Given the description of an element on the screen output the (x, y) to click on. 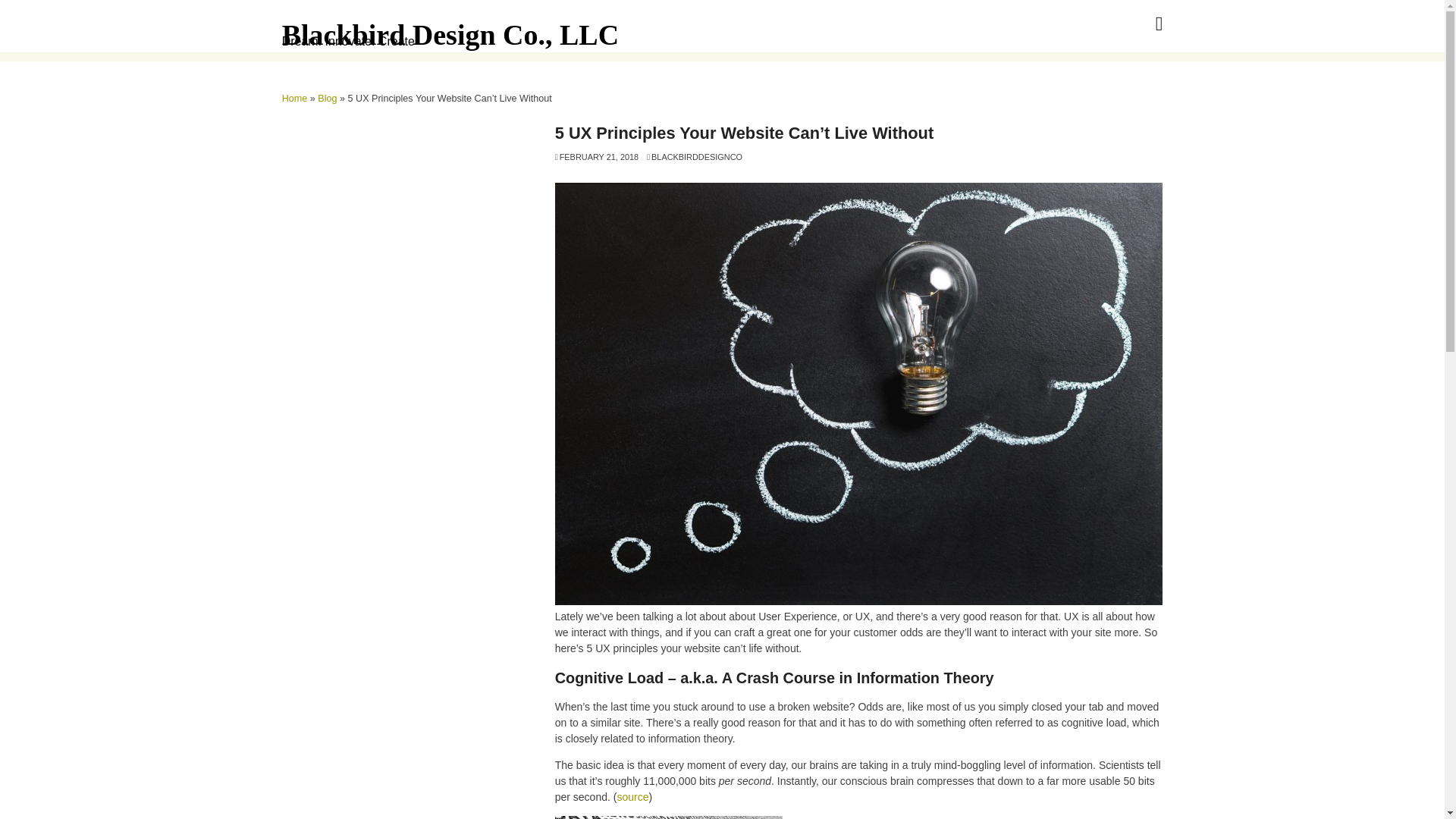
Home (294, 98)
BLACKBIRDDESIGNCO (694, 156)
Blackbird Design Co., LLC (450, 34)
Blog (326, 98)
FEBRUARY 21, 2018 (596, 156)
source (631, 797)
